Given the description of an element on the screen output the (x, y) to click on. 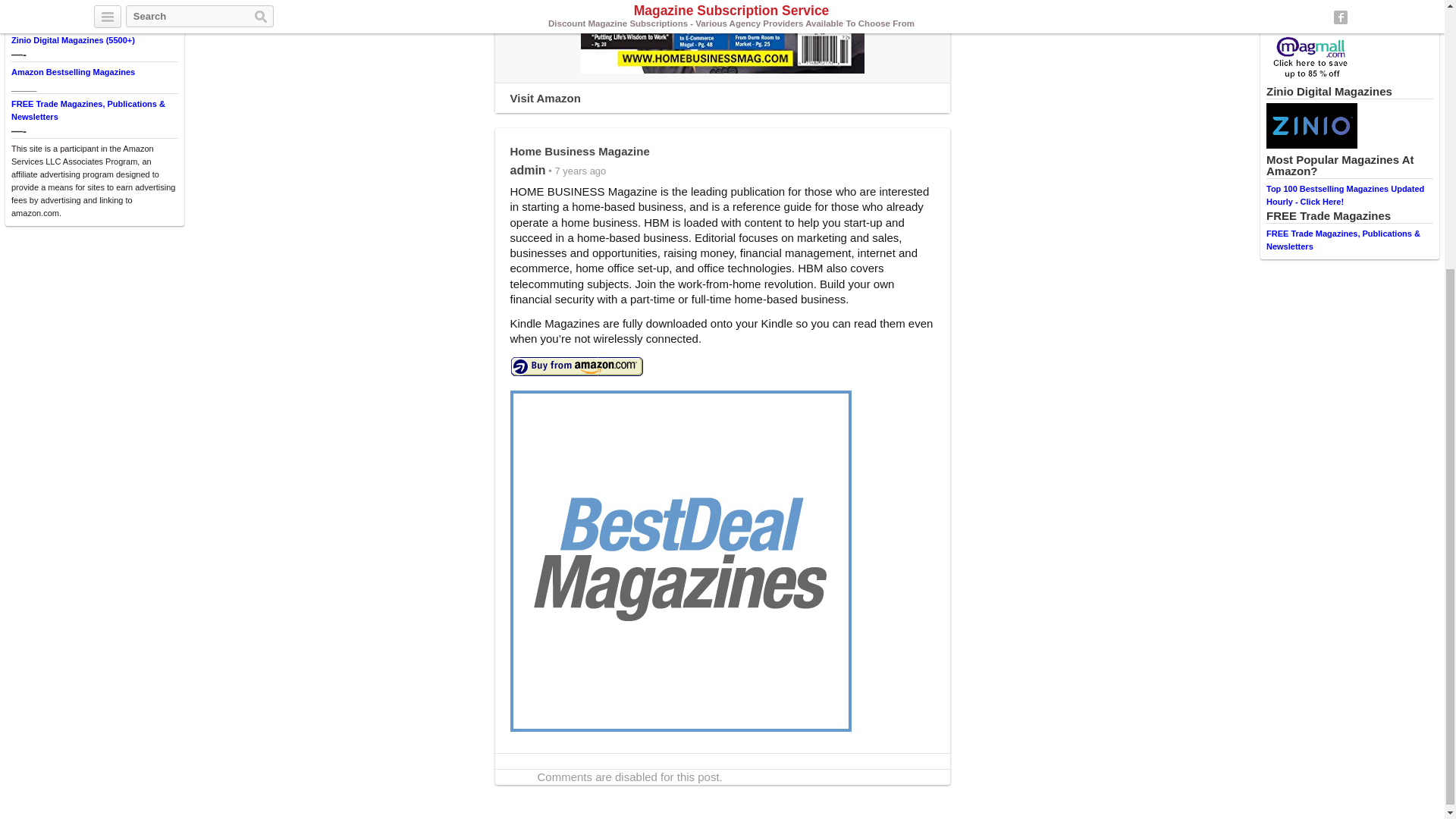
Visit Amazon (544, 97)
Top 100 Bestselling Magazines Updated Hourly - Click Here! (1344, 195)
Home Business Magazine (722, 36)
Amazon Bestselling Magazines (73, 71)
